Given the description of an element on the screen output the (x, y) to click on. 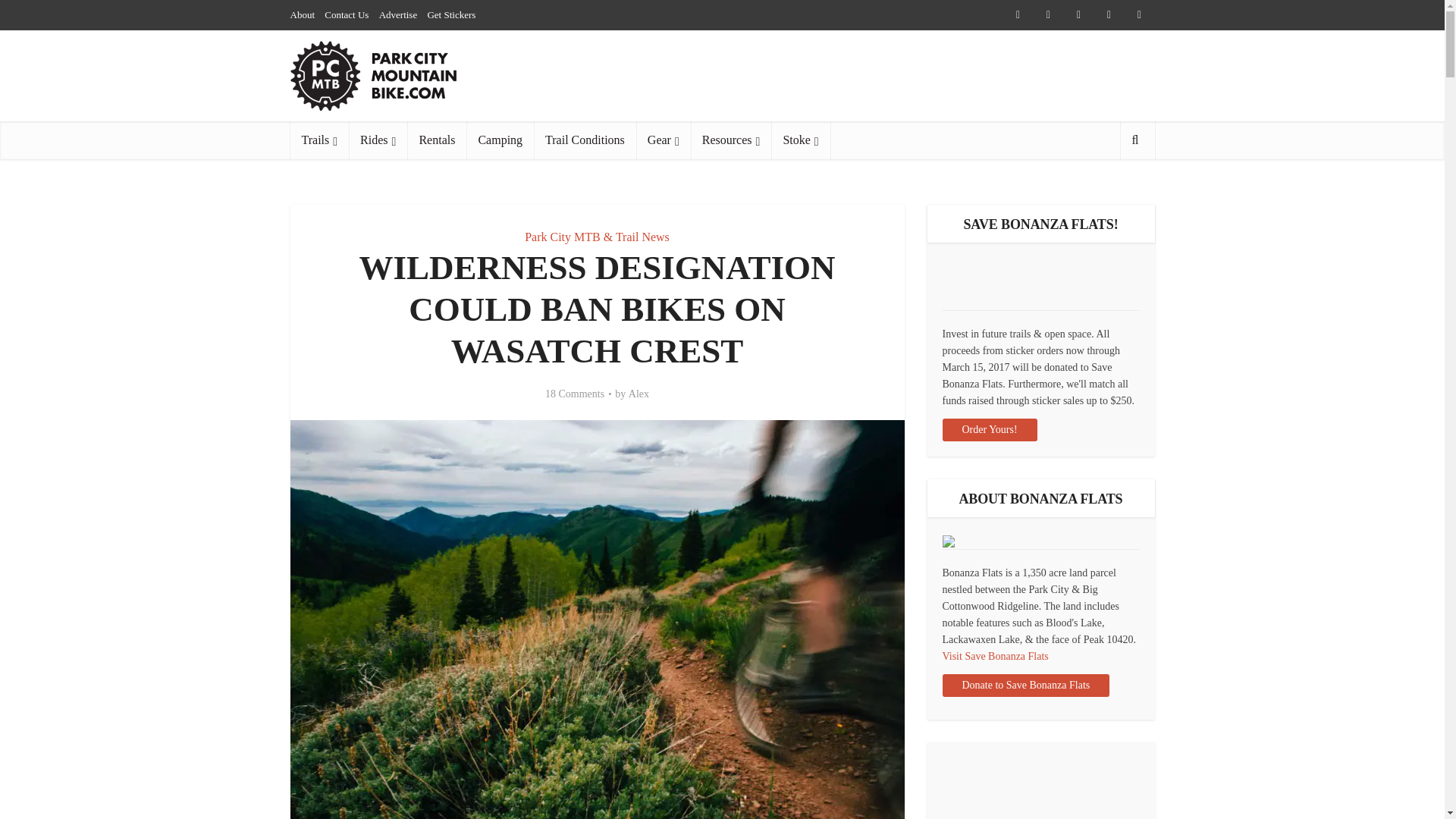
Advertise (397, 14)
Park City Mountain Biking (373, 75)
Get Stickers (451, 14)
Trail Conditions (585, 139)
Trails (319, 139)
Rentals (436, 139)
Resources (730, 139)
About (301, 14)
Rides (378, 139)
Stoke (800, 139)
